Given the description of an element on the screen output the (x, y) to click on. 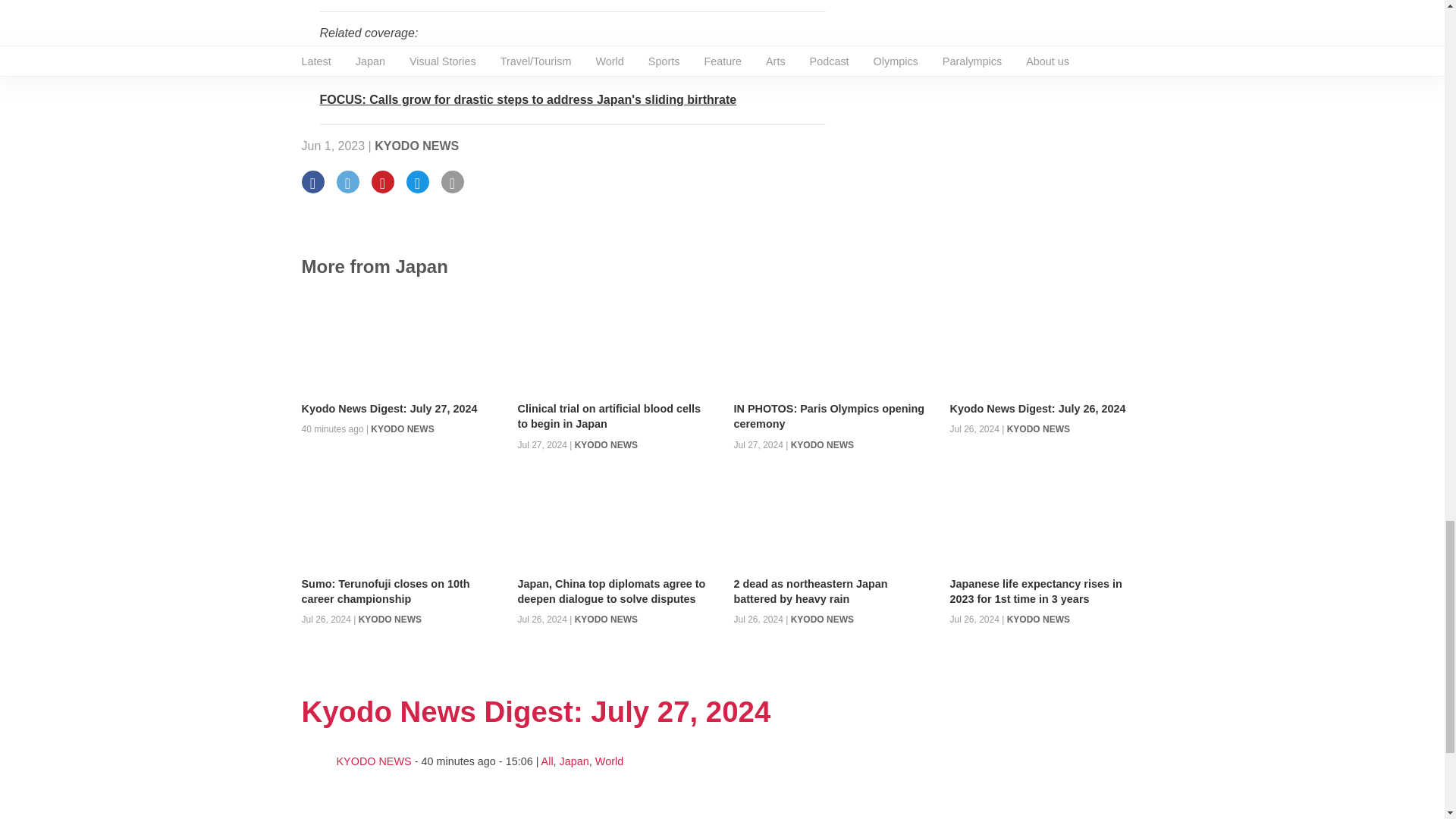
Kyodo News Plus (521, 65)
KYODO NEWS (416, 145)
Kyodo News Plus (528, 99)
